Given the description of an element on the screen output the (x, y) to click on. 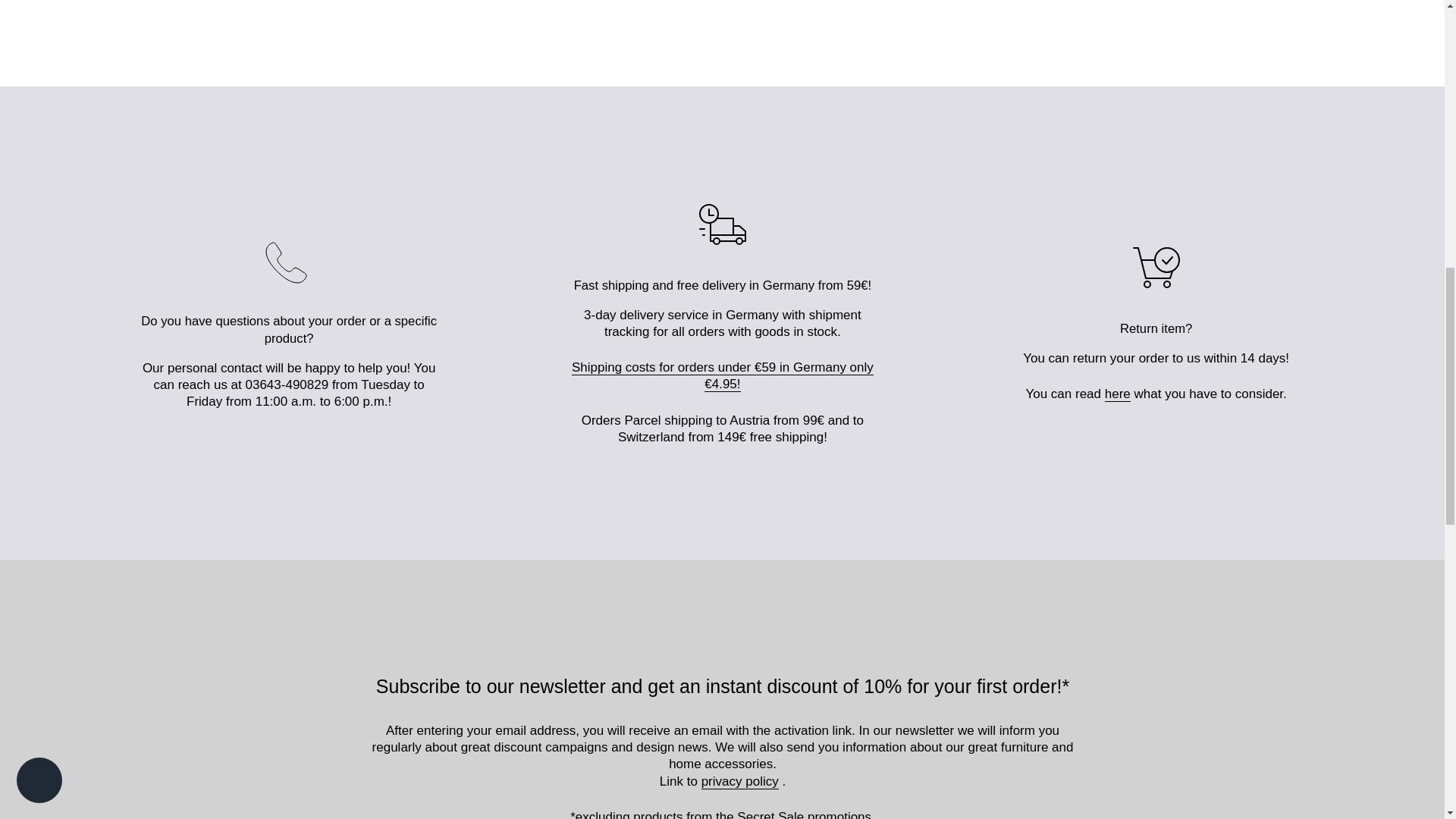
Privacy Policy (739, 781)
refund policy (1118, 394)
Shipping Policy (722, 376)
